Given the description of an element on the screen output the (x, y) to click on. 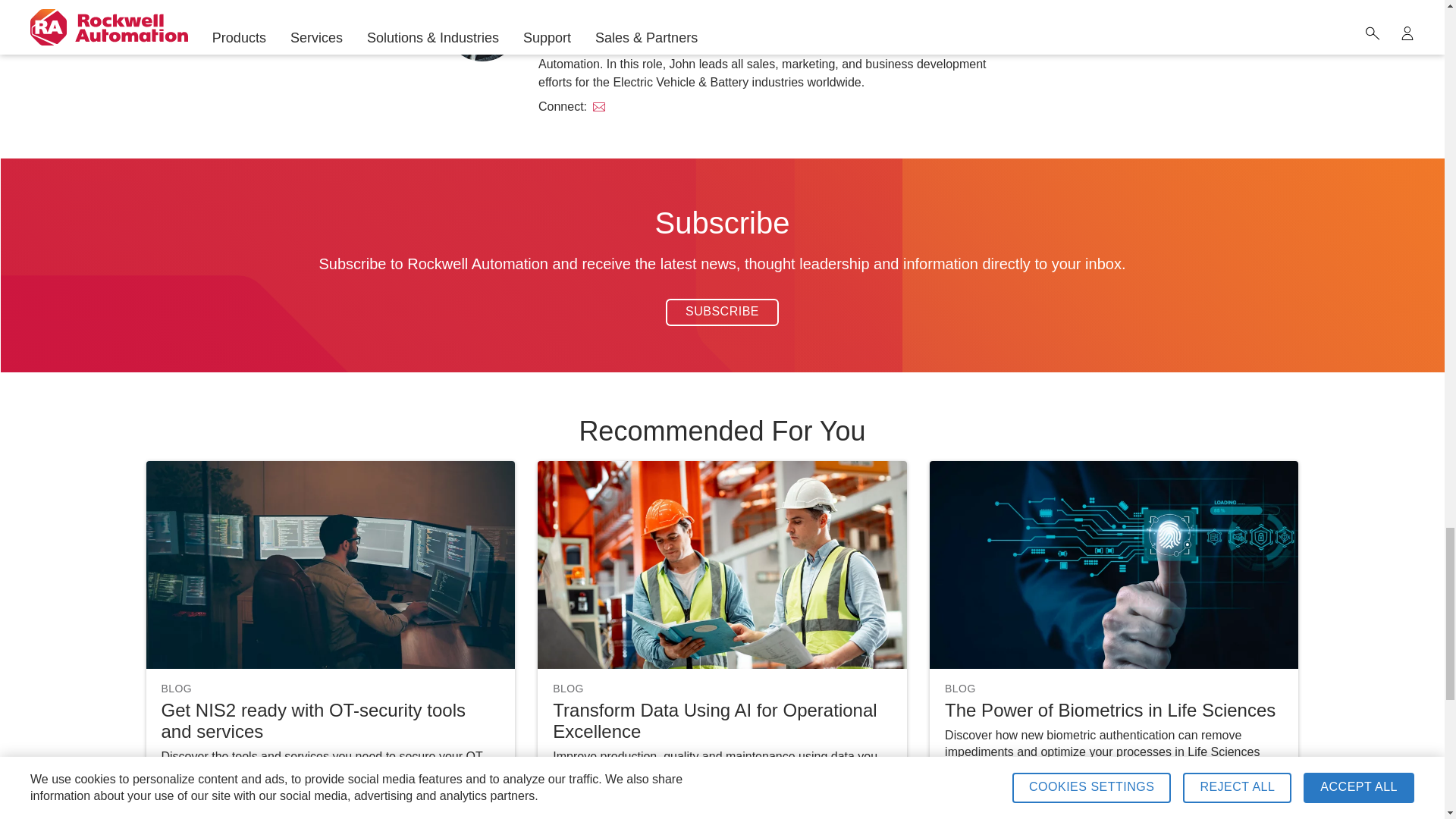
email social icon (598, 106)
